Given the description of an element on the screen output the (x, y) to click on. 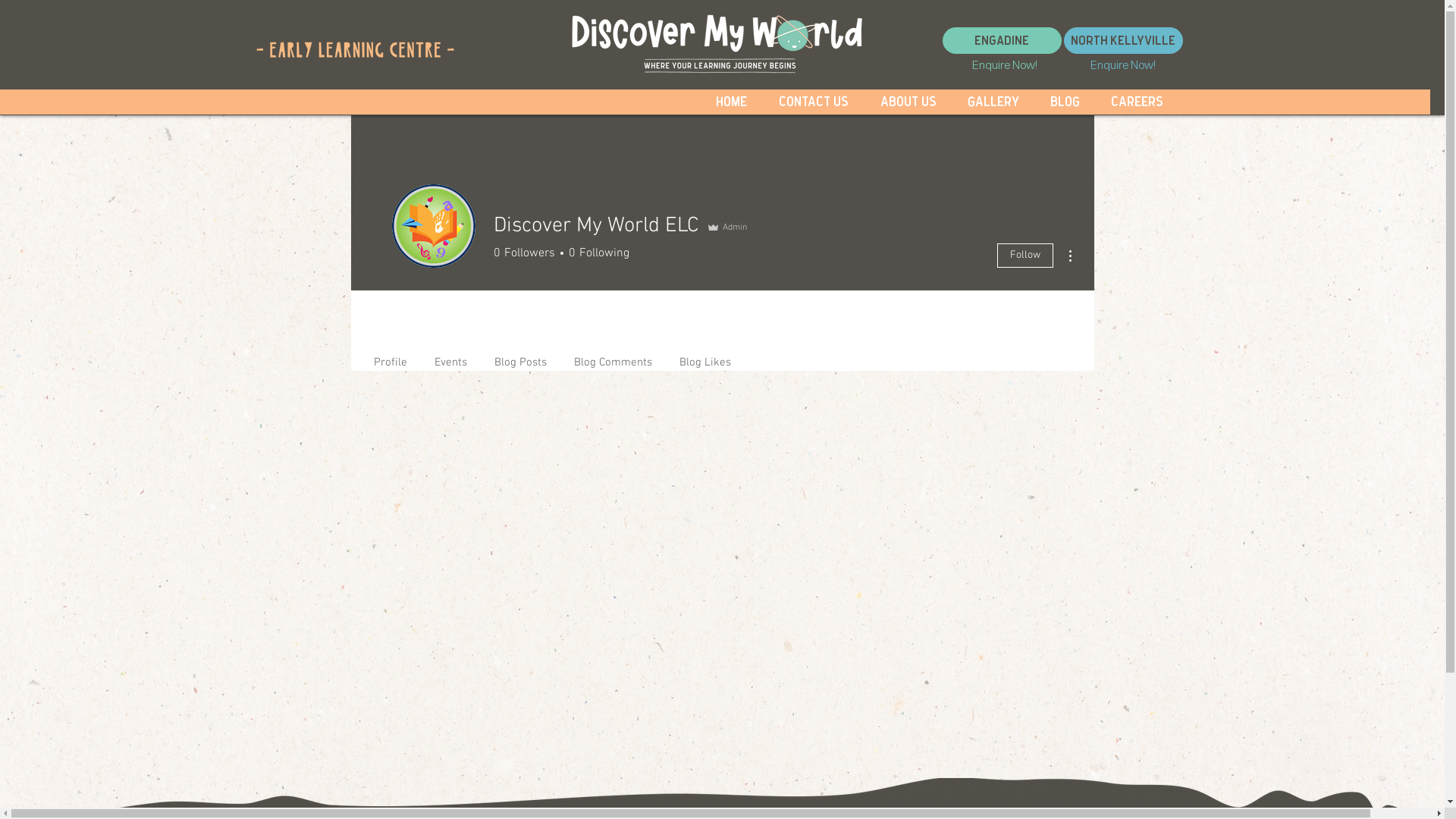
Blog Posts Element type: text (520, 355)
Events Element type: text (450, 355)
Gallery Element type: text (993, 102)
0
Following Element type: text (595, 252)
Blog Likes Element type: text (704, 355)
0
Followers Element type: text (523, 252)
Careers Element type: text (1136, 102)
Enquire Now! Element type: text (1122, 64)
Enquire Now! Element type: text (1003, 64)
Follow Element type: text (1024, 255)
About Us Element type: text (908, 102)
Discover My World ELC Element type: hover (432, 225)
North Kellyville Element type: text (1122, 40)
Contact Us Element type: text (813, 102)
Blog Element type: text (1064, 102)
Blog Comments Element type: text (612, 355)
Profile Element type: text (389, 355)
Engadine Element type: text (1000, 40)
Home Element type: text (730, 102)
